Given the description of an element on the screen output the (x, y) to click on. 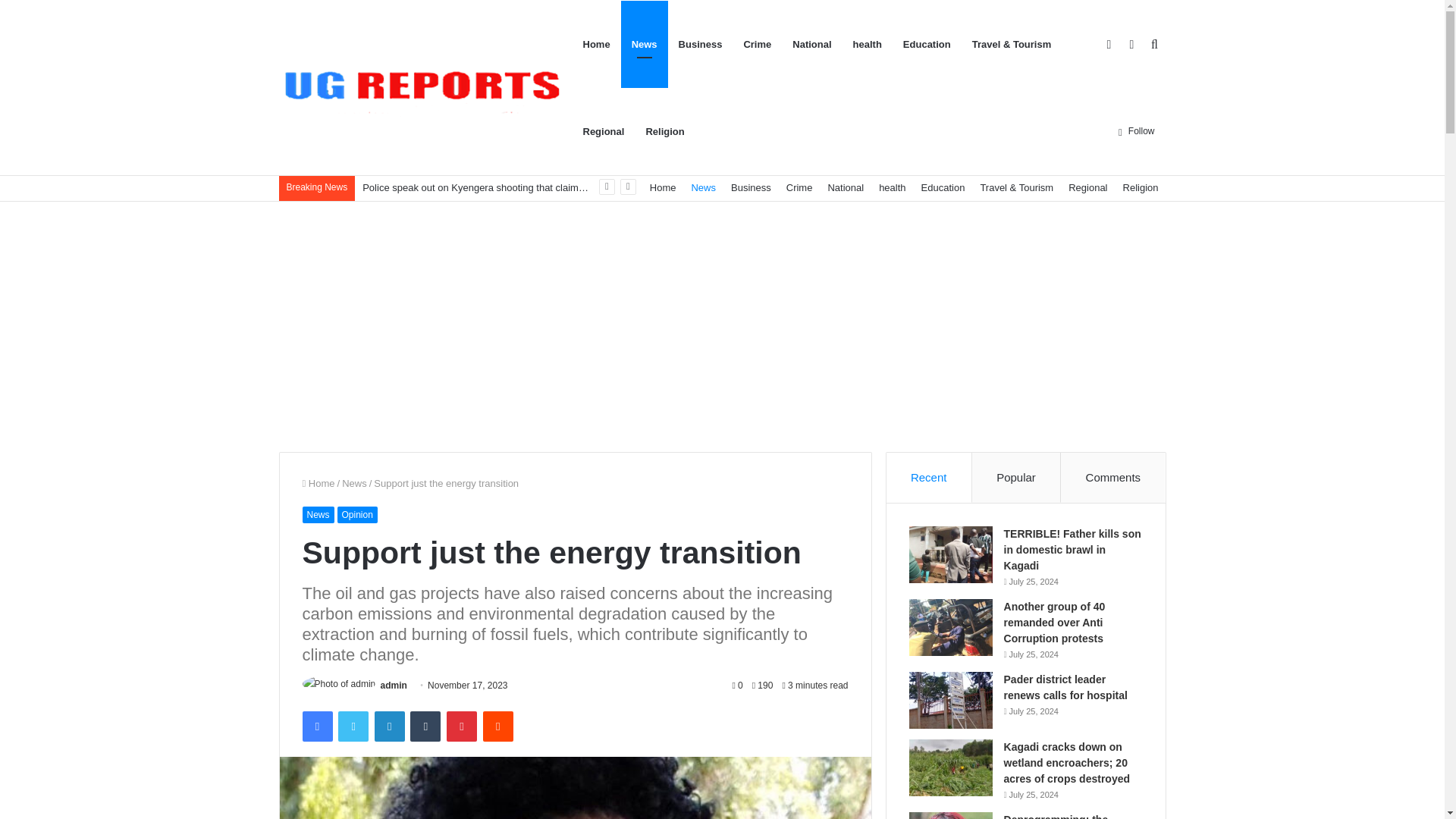
Business (700, 43)
Search for (1154, 43)
Education (926, 43)
Crime (756, 43)
Crime (799, 187)
National (811, 43)
Pinterest (461, 726)
health (867, 43)
Facebook (316, 726)
News (644, 43)
Regional (603, 131)
Reddit (498, 726)
Religion (1140, 187)
Tumblr (425, 726)
Regional (1088, 187)
